Given the description of an element on the screen output the (x, y) to click on. 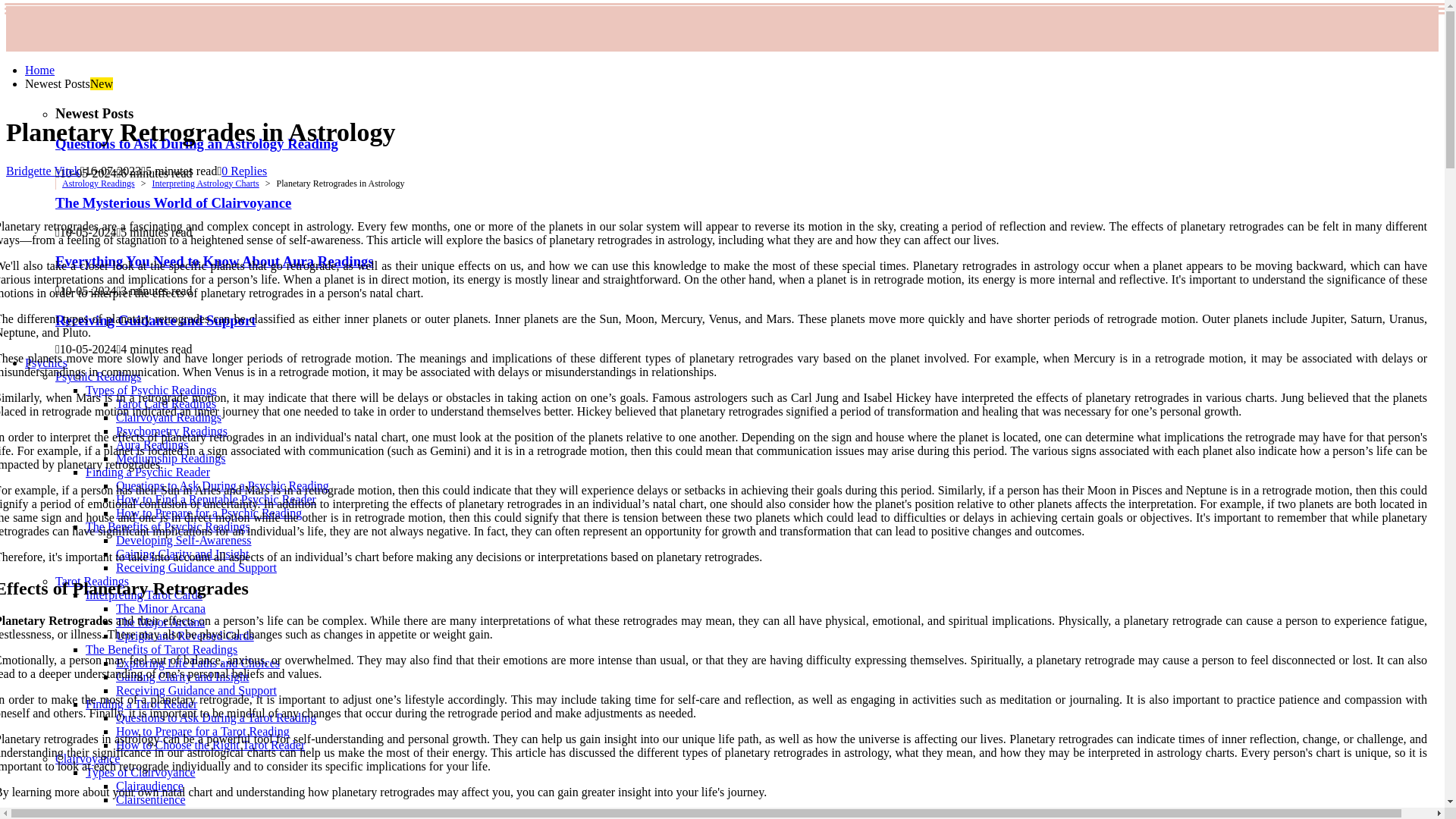
How to Find a Reputable Psychic Reader (215, 499)
Types of Psychic Readings (150, 390)
The Mysterious World of Clairvoyance (173, 202)
The Benefits of Psychic Readings (167, 526)
Exploring Life Paths and Choices (197, 662)
Tarot Readings (92, 581)
Receiving Guidance and Support (196, 689)
The Benefits of Tarot Readings (161, 649)
Interpreting Tarot Cards (143, 594)
Questions to Ask During a Psychic Reading (222, 485)
The Minor Arcana (160, 608)
How to Prepare for a Tarot Reading (202, 730)
Questions to Ask During a Tarot Reading (215, 717)
Home (39, 69)
Gaining Clarity and Insight (182, 553)
